Given the description of an element on the screen output the (x, y) to click on. 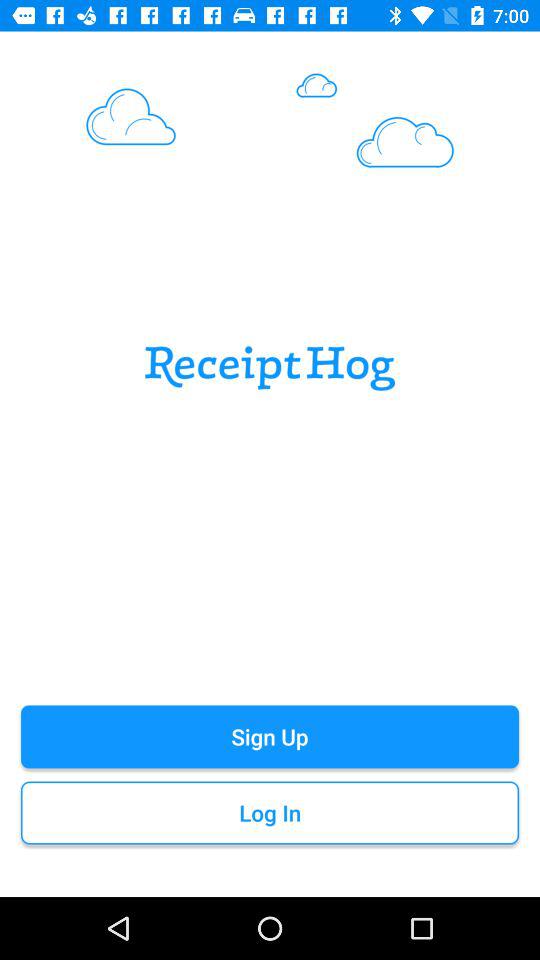
click icon above the log in (270, 736)
